Given the description of an element on the screen output the (x, y) to click on. 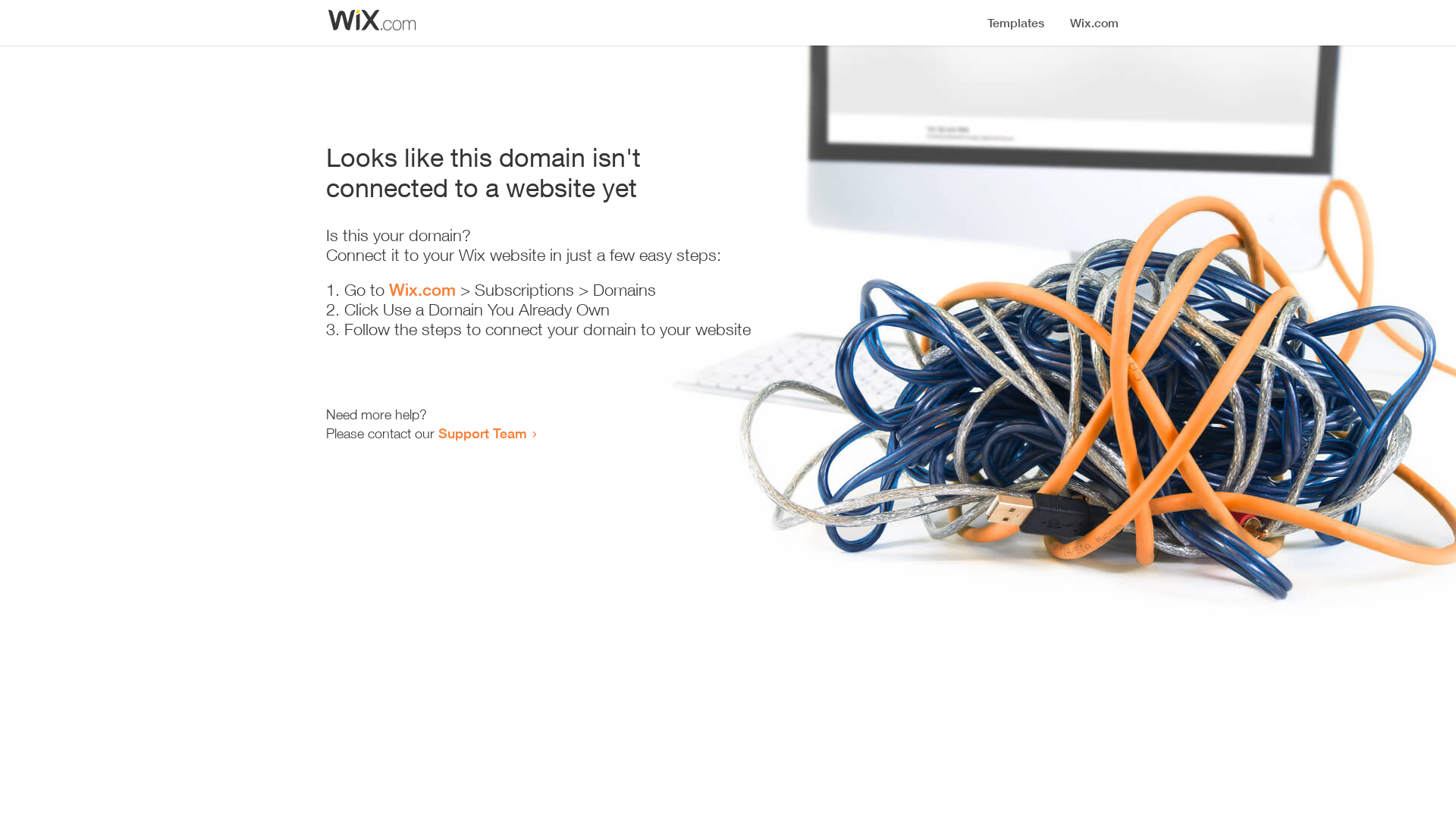
Support Team Element type: text (482, 432)
Wix.com Element type: text (422, 289)
